Given the description of an element on the screen output the (x, y) to click on. 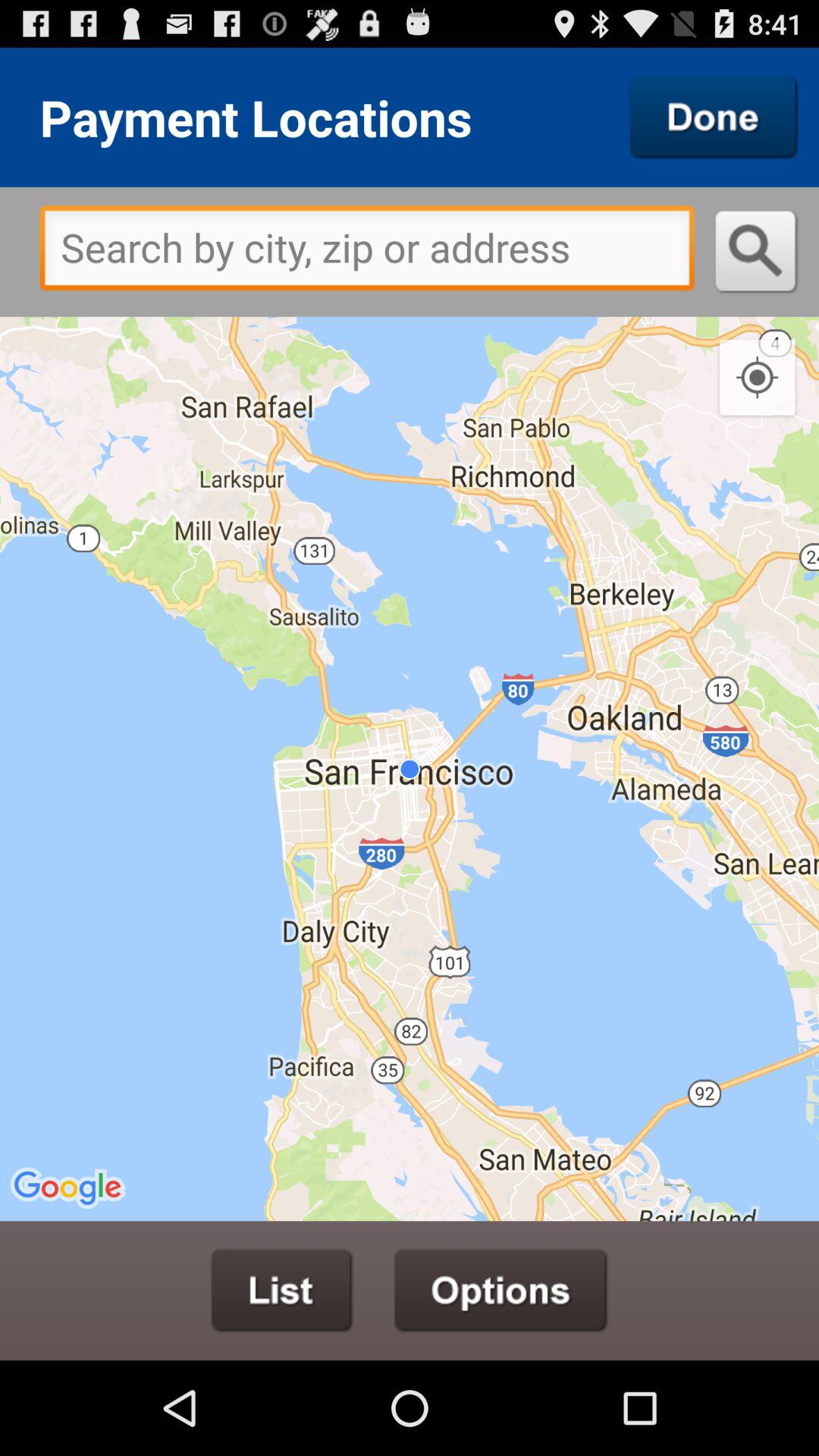
open the app to the right of the payment locations icon (714, 117)
